Given the description of an element on the screen output the (x, y) to click on. 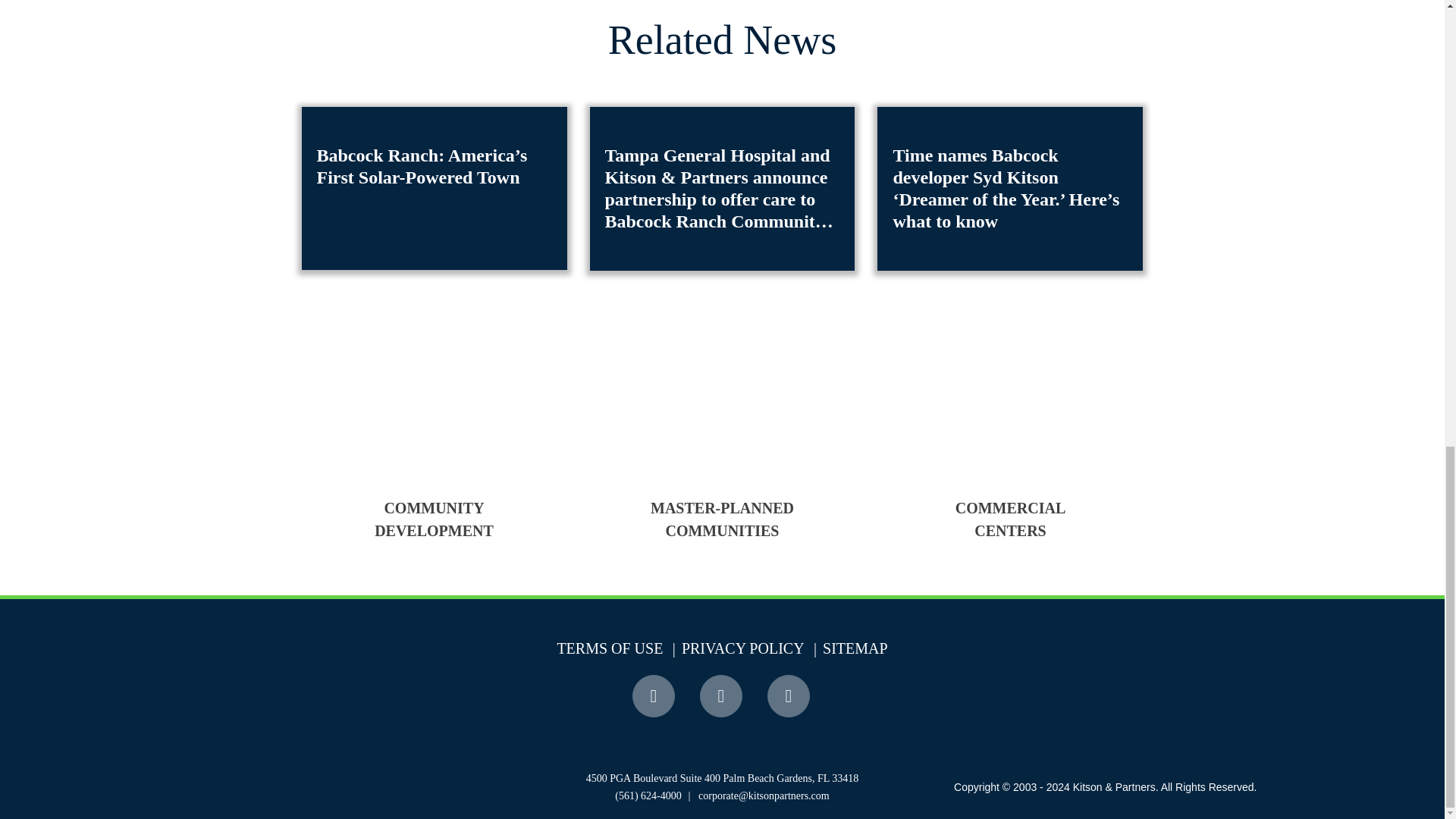
Facebook (654, 695)
SITEMAP (848, 647)
Twitter (721, 695)
TERMS OF USE (609, 647)
PRIVACY POLICY (735, 647)
